Given the description of an element on the screen output the (x, y) to click on. 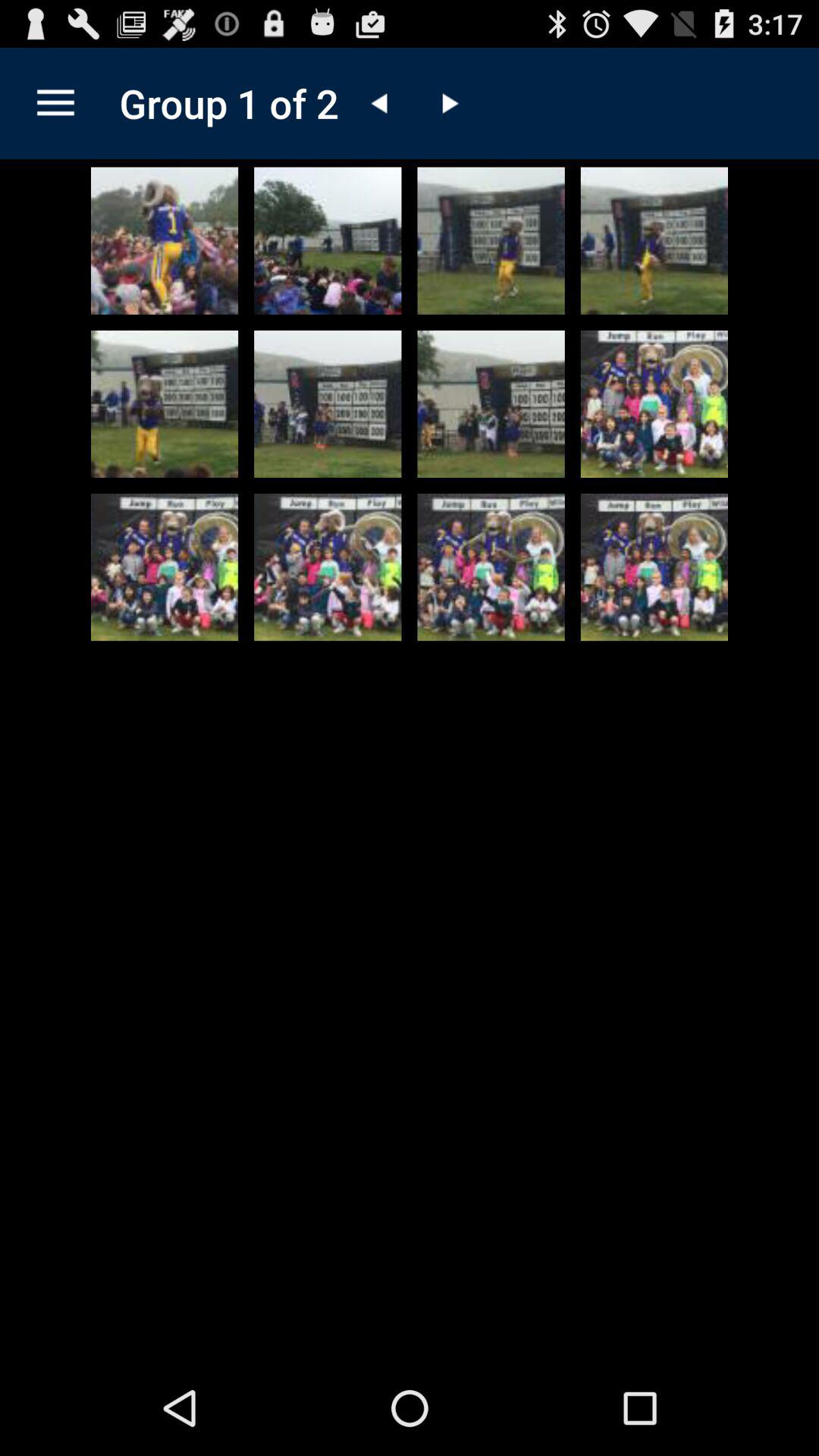
view selected (327, 403)
